Given the description of an element on the screen output the (x, y) to click on. 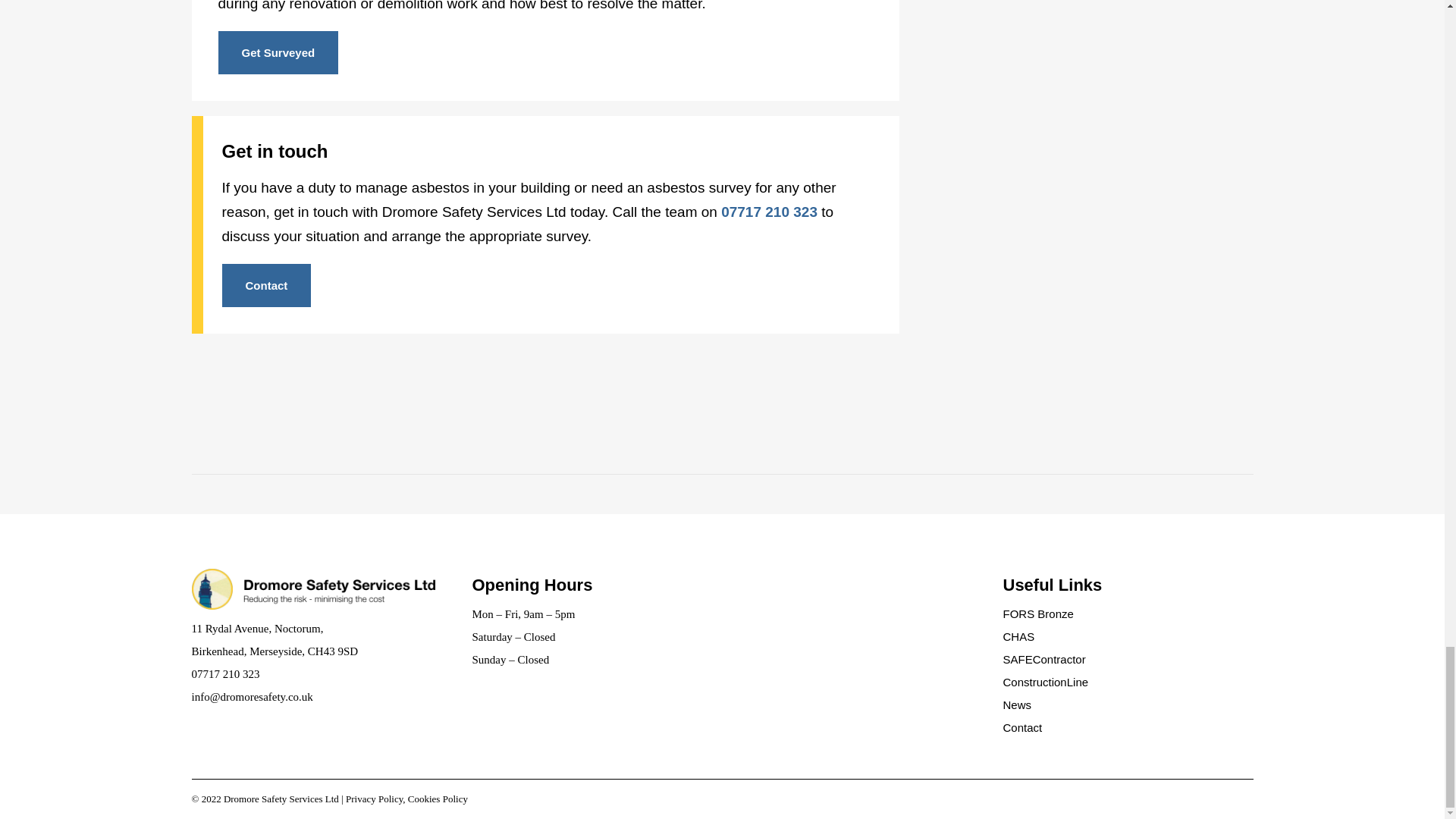
Contact (266, 285)
07717 210 323 (768, 211)
Privacy Policy (374, 798)
Get Surveyed (278, 52)
News (1127, 704)
ConstructionLine (1127, 681)
Contact (1127, 727)
07717 210 323 (224, 674)
SAFEContractor (1127, 659)
Cookies Policy (437, 798)
FORS Bronze (1127, 613)
CHAS (1127, 636)
